Given the description of an element on the screen output the (x, y) to click on. 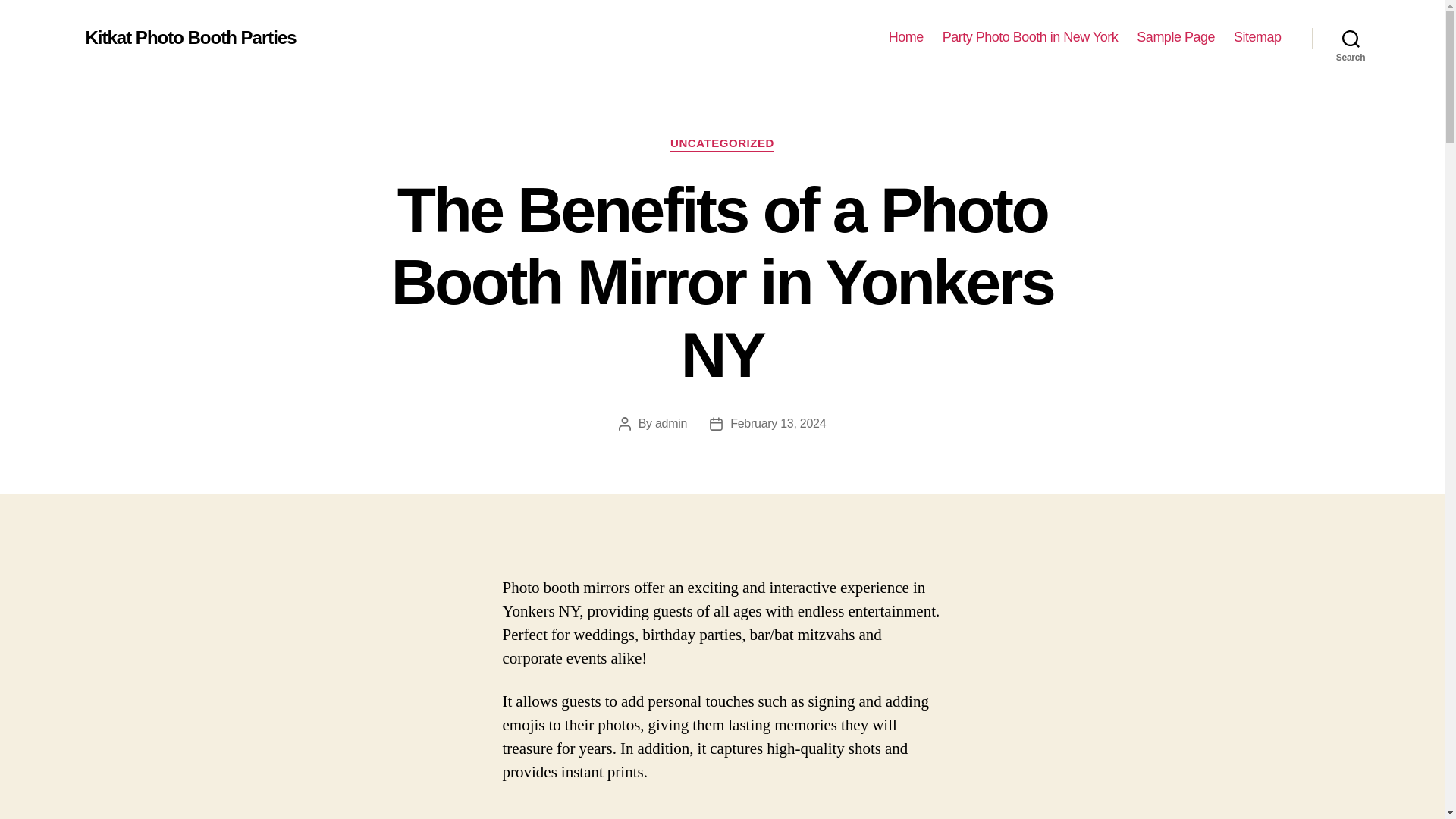
Kitkat Photo Booth Parties (189, 37)
UNCATEGORIZED (721, 143)
admin (671, 422)
Search (1350, 37)
February 13, 2024 (777, 422)
Party Photo Booth in New York (1030, 37)
Home (905, 37)
Sitemap (1257, 37)
Sample Page (1175, 37)
